Given the description of an element on the screen output the (x, y) to click on. 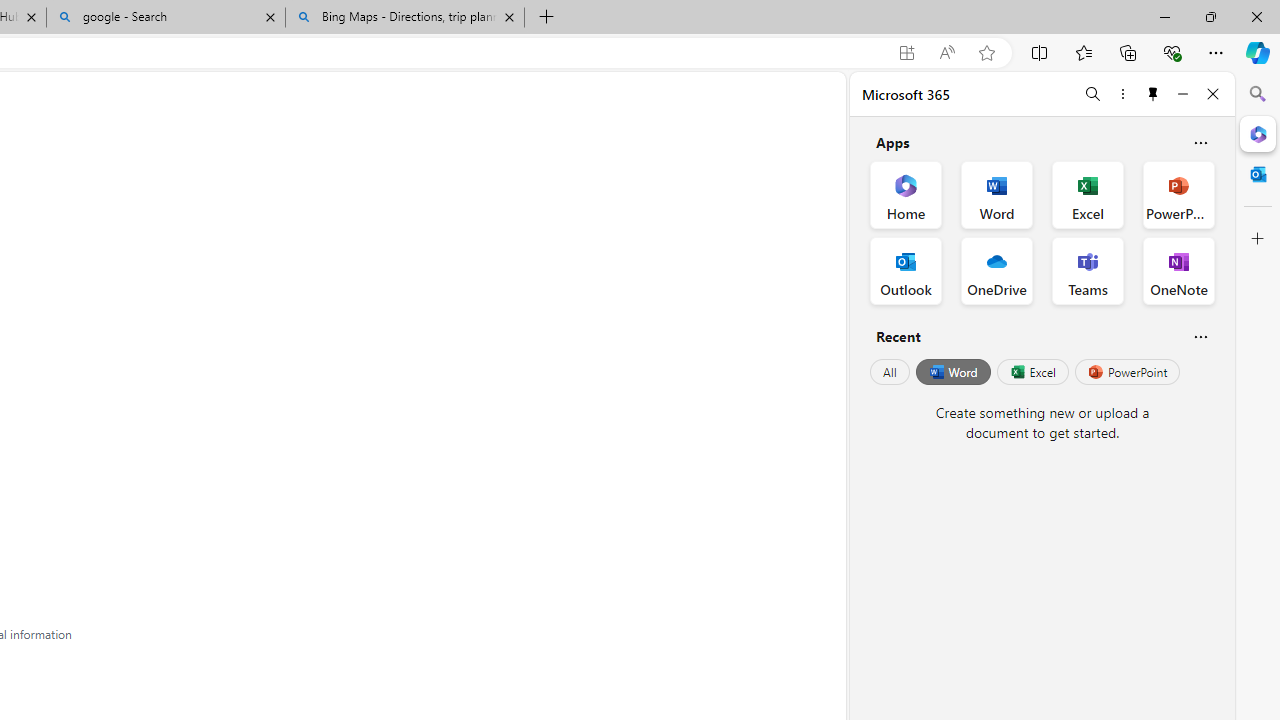
Word (952, 372)
PowerPoint Office App (1178, 194)
Is this helpful? (1200, 336)
OneNote Office App (1178, 270)
Word Office App (996, 194)
Excel Office App (1087, 194)
Unpin side pane (1153, 93)
All (890, 372)
google - Search (166, 17)
Search (1258, 94)
More options (1122, 93)
